Given the description of an element on the screen output the (x, y) to click on. 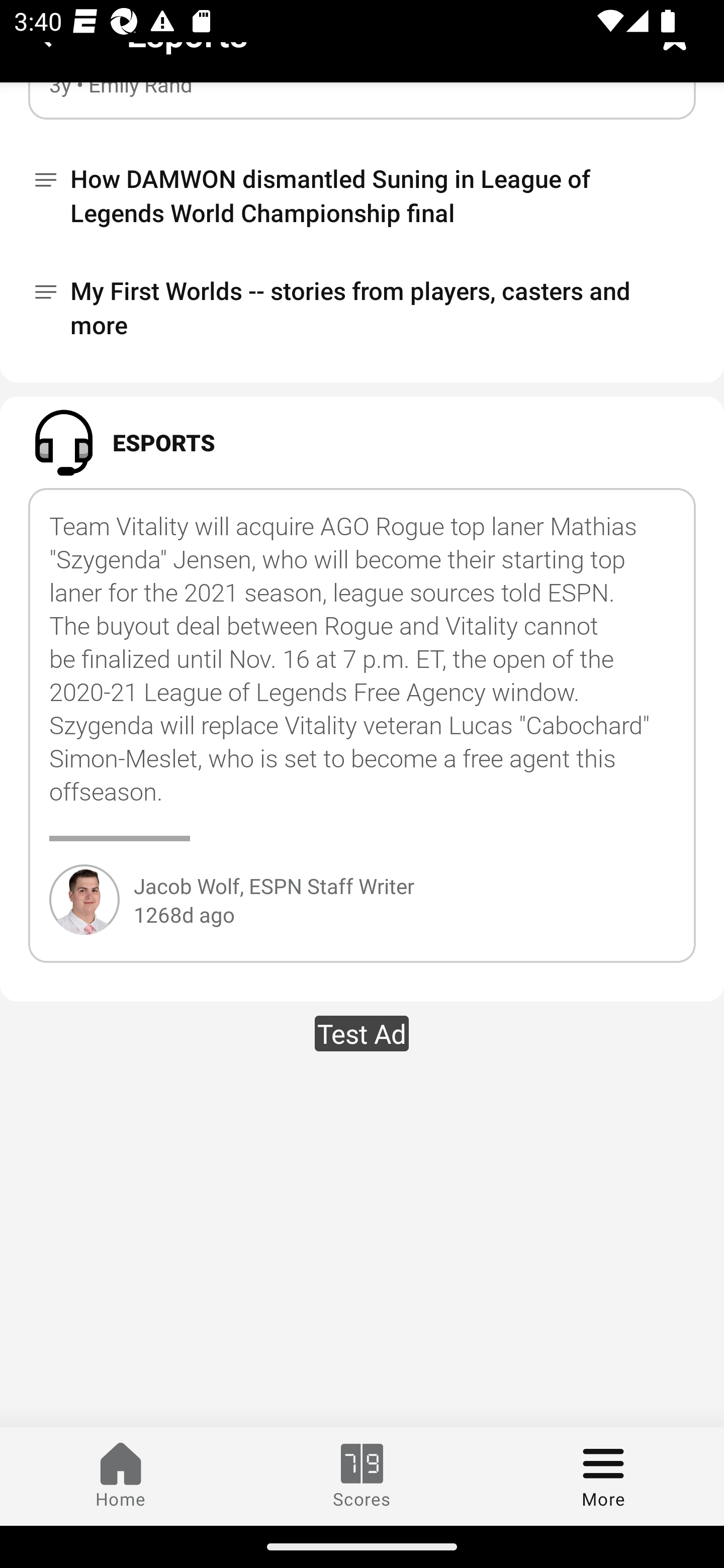
ESPORTS (362, 441)
Home (120, 1475)
Scores (361, 1475)
